Given the description of an element on the screen output the (x, y) to click on. 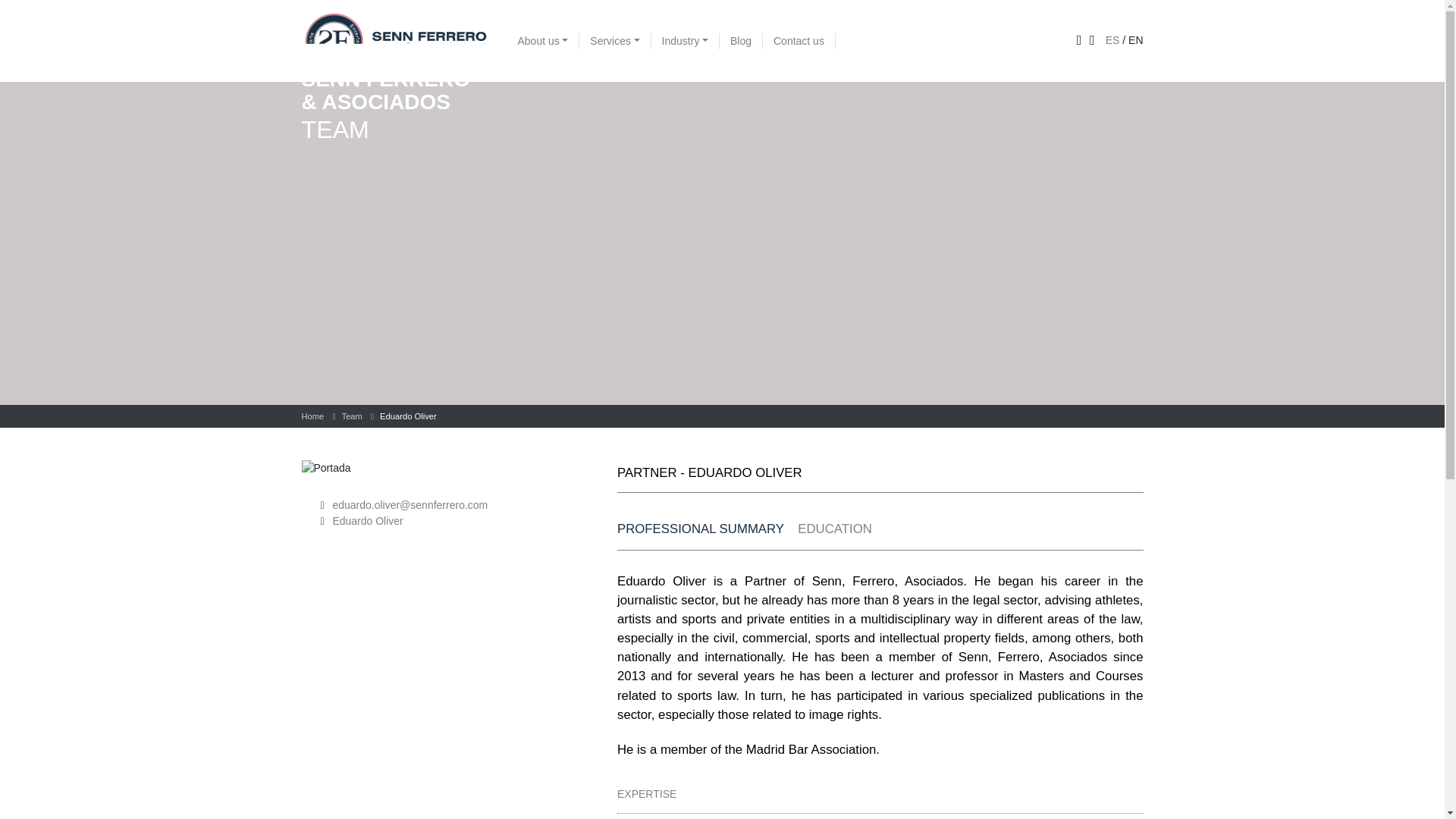
ES (1112, 39)
Services (614, 41)
Contact us (798, 41)
Industry (684, 41)
About us (542, 41)
Blog (740, 41)
